Given the description of an element on the screen output the (x, y) to click on. 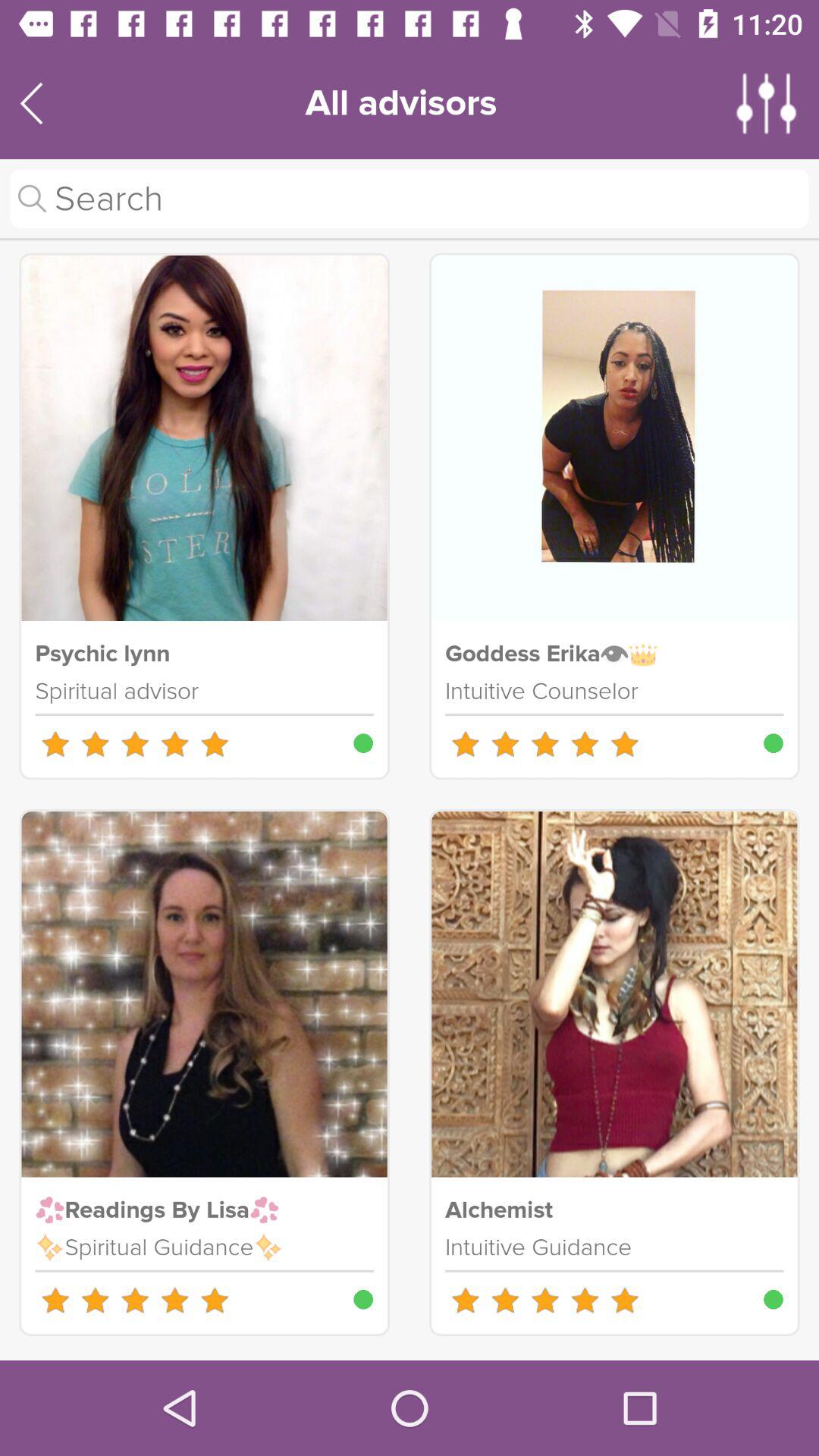
search for advisor (409, 198)
